Given the description of an element on the screen output the (x, y) to click on. 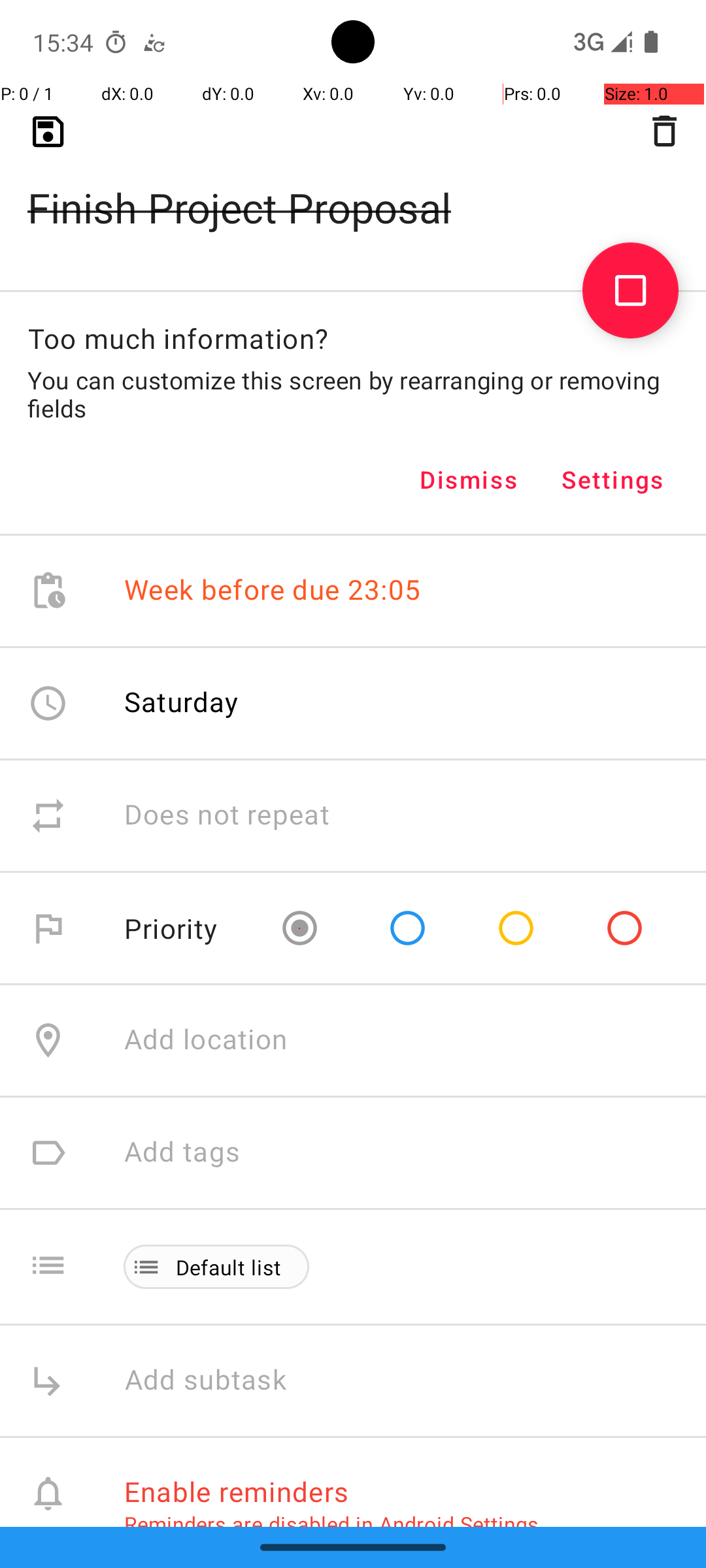
Saturday Element type: android.widget.TextView (181, 700)
Week before due 23:05 Element type: android.widget.TextView (272, 590)
